Given the description of an element on the screen output the (x, y) to click on. 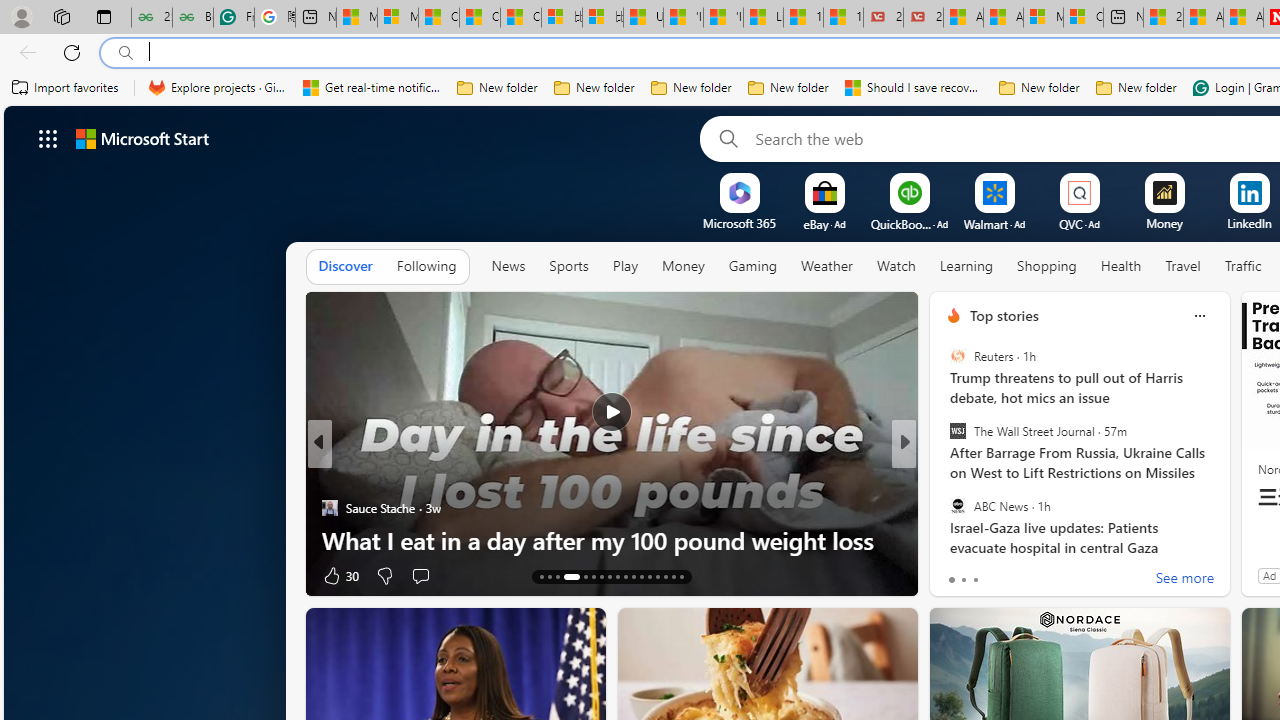
Start the conversation (420, 575)
Health (1121, 267)
View comments 140 Comment (1036, 575)
loveMONEY (944, 475)
Sauce Stache (329, 507)
View comments 4 Comment (1028, 575)
Watch (895, 265)
USA TODAY - MSN (643, 17)
30 Like (340, 574)
Import favorites (65, 88)
